Given the description of an element on the screen output the (x, y) to click on. 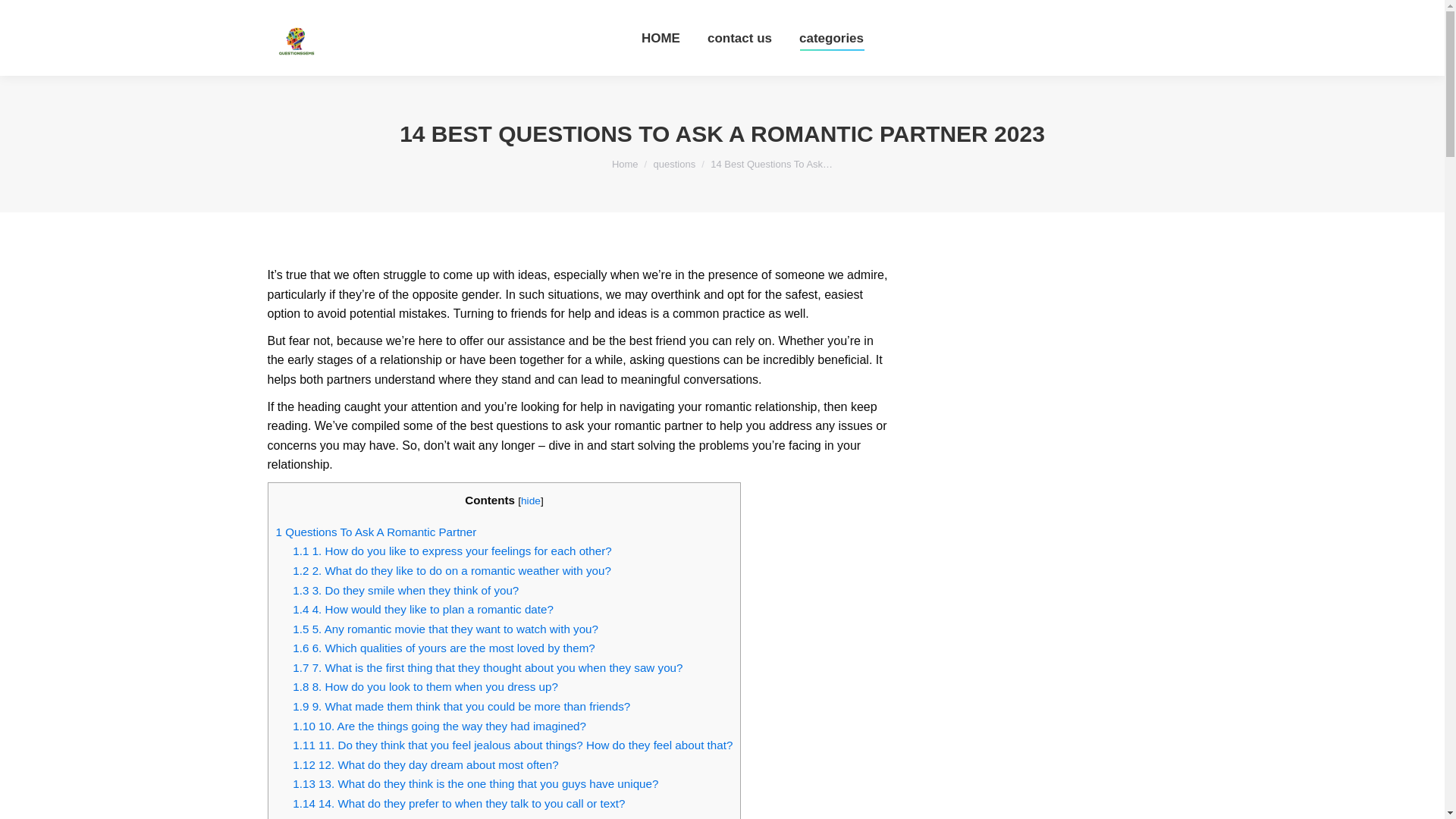
questions (674, 163)
1.4 4. How would they like to plan a romantic date? (422, 608)
contact us (739, 37)
1.10 10. Are the things going the way they had imagined? (439, 725)
1 Questions To Ask A Romantic Partner (376, 531)
HOME (660, 37)
1.12 12. What do they day dream about most often? (424, 764)
Home (625, 163)
